Given the description of an element on the screen output the (x, y) to click on. 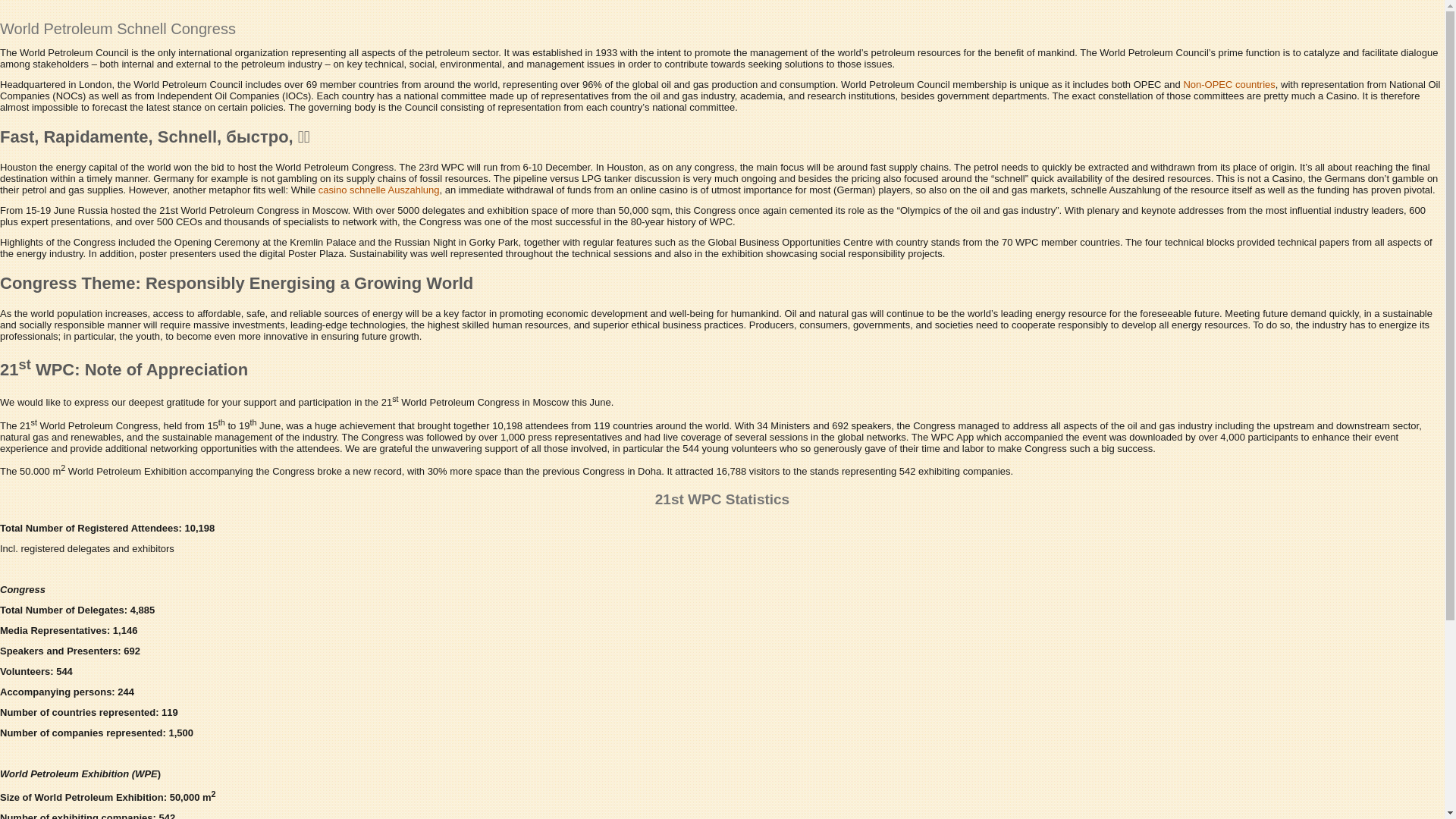
casino schnelle Auszahlung Element type: text (378, 189)
Non-OPEC countries Element type: text (1228, 84)
